Given the description of an element on the screen output the (x, y) to click on. 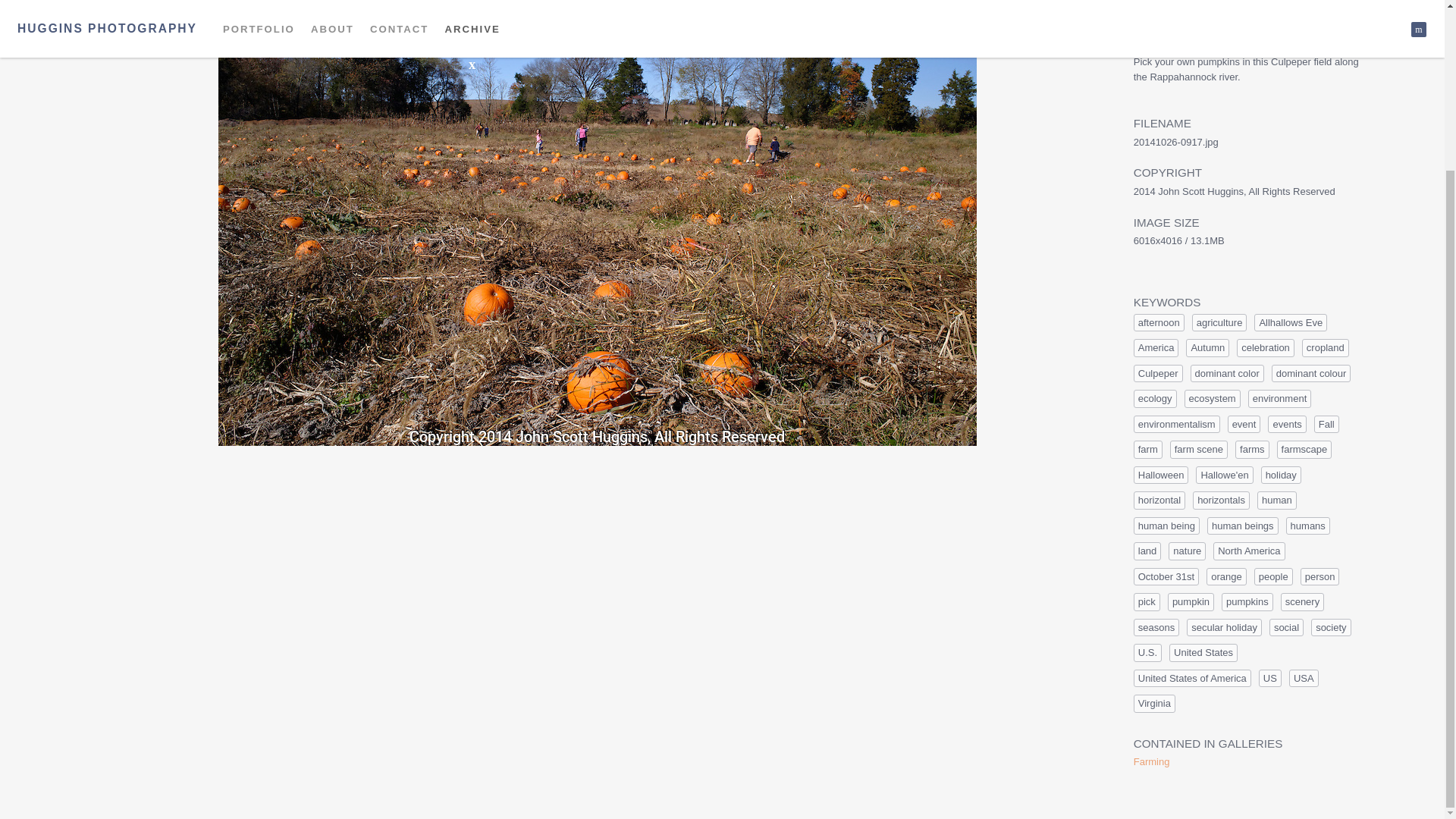
events (1287, 424)
Autumn (1207, 348)
Allhallows Eve (1289, 322)
environmentalism (1177, 424)
farm scene (1198, 449)
Fall (1326, 424)
America (1156, 348)
holiday (1280, 475)
dominant color (1227, 373)
Hallowe'en (1223, 475)
celebration (1265, 348)
farmscape (1304, 449)
agriculture (1219, 322)
Add to Cart (1247, 12)
event (1243, 424)
